Given the description of an element on the screen output the (x, y) to click on. 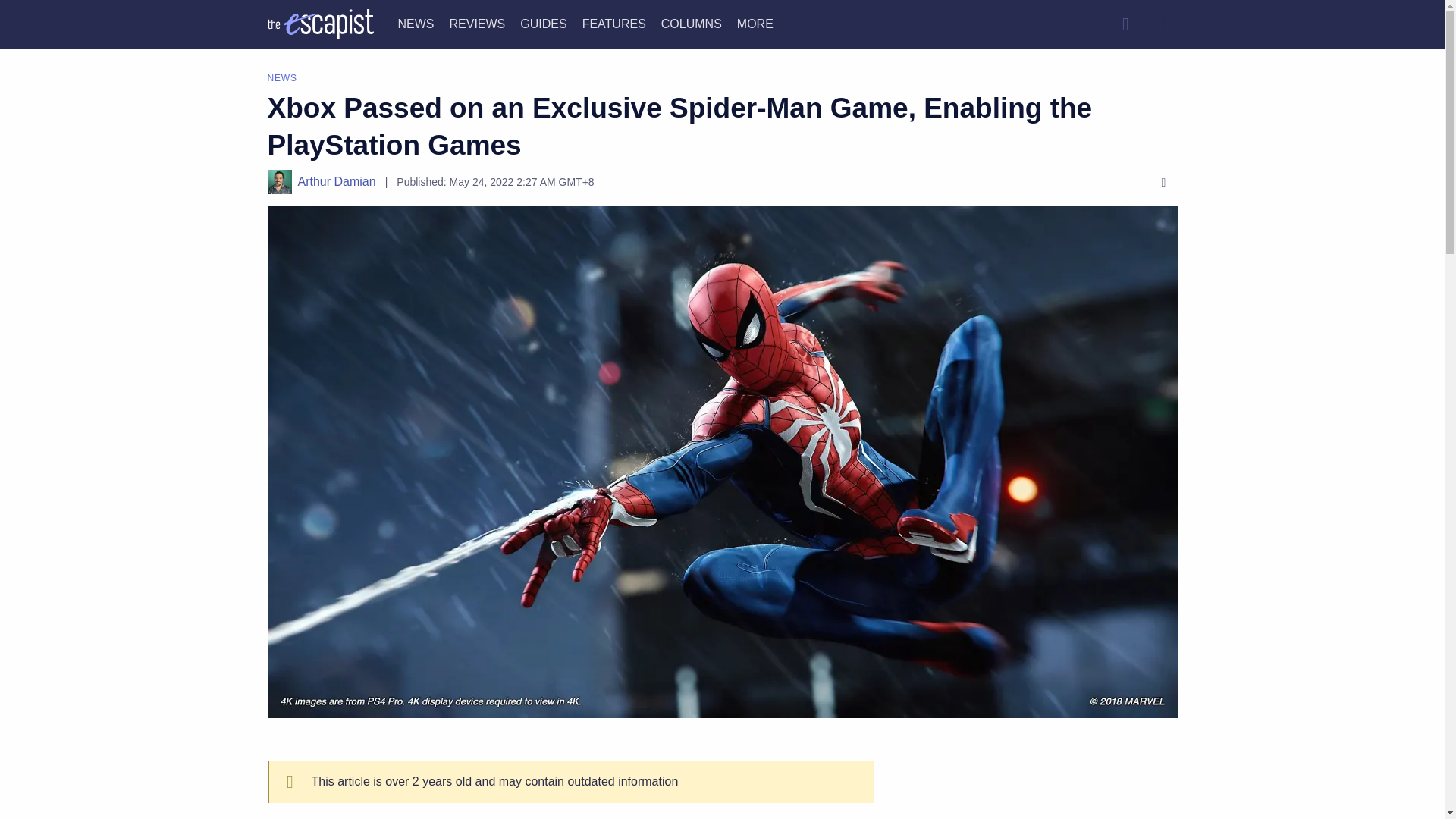
REVIEWS (476, 23)
GUIDES (542, 23)
Search (1124, 24)
COLUMNS (691, 23)
FEATURES (614, 23)
NEWS (415, 23)
Dark Mode (1161, 24)
